Given the description of an element on the screen output the (x, y) to click on. 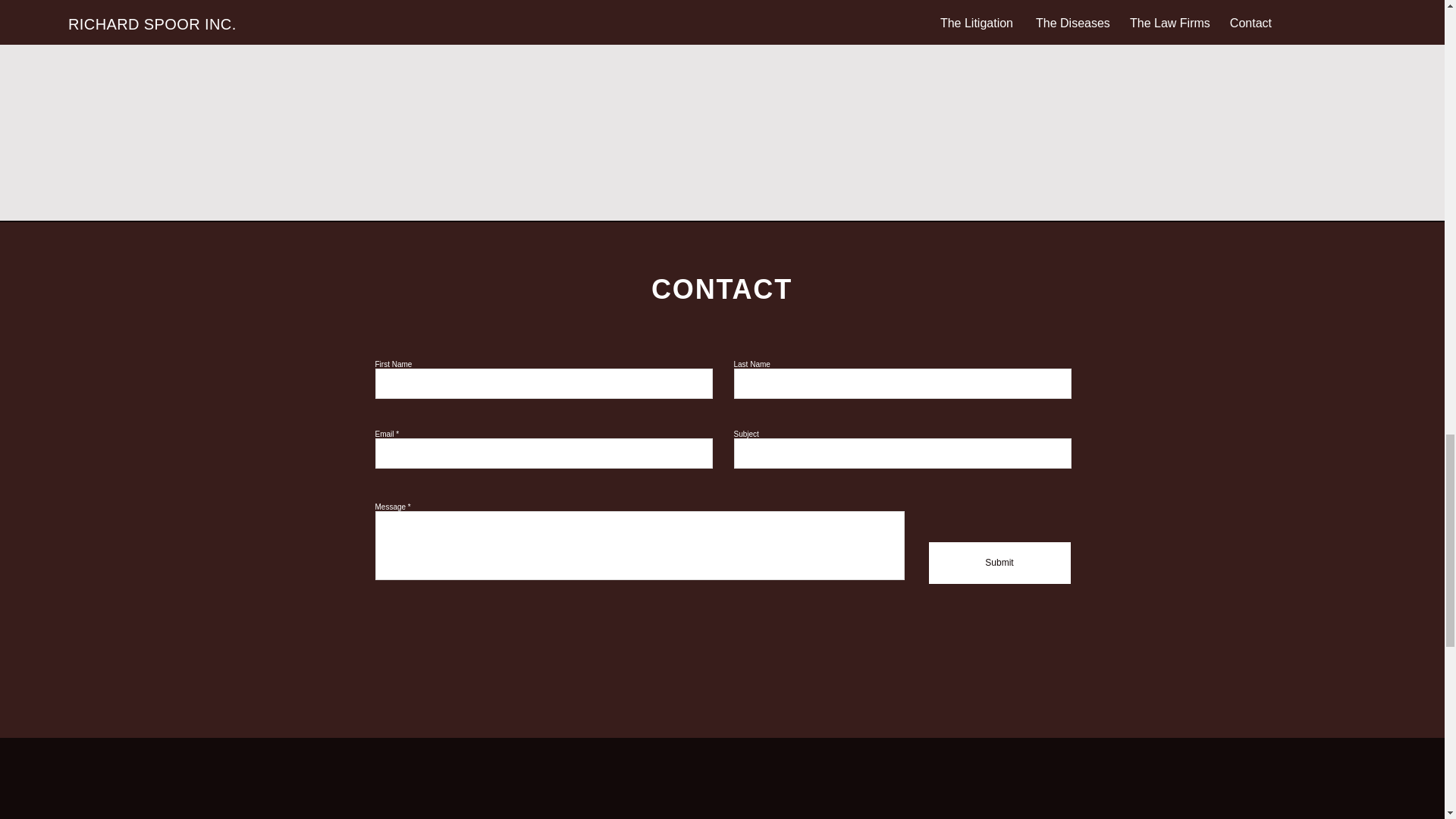
Submit (999, 562)
